Given the description of an element on the screen output the (x, y) to click on. 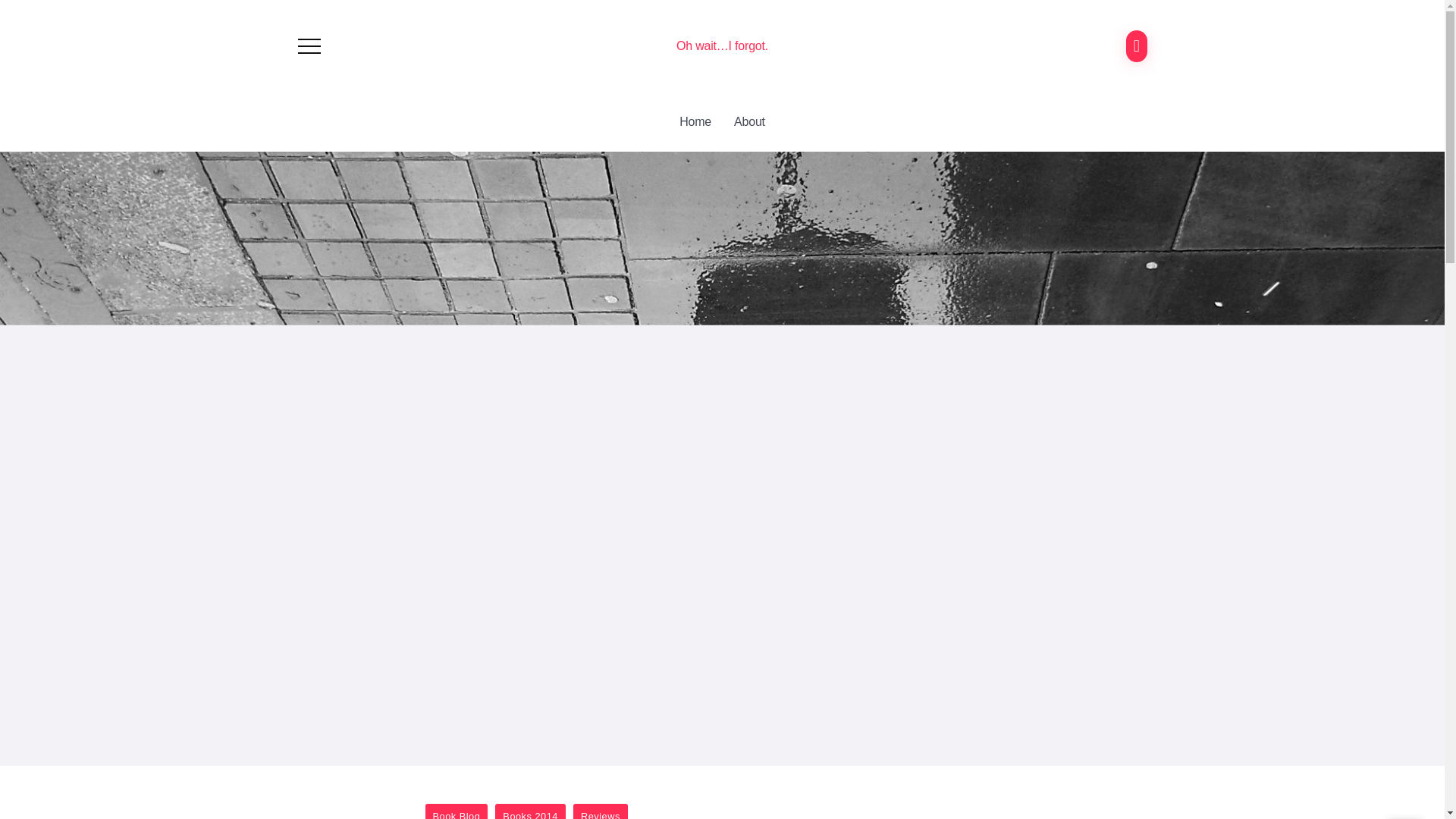
Books 2014 (530, 811)
Book Blog (456, 811)
Books 2014 (530, 811)
About (749, 121)
Home (694, 121)
Book Blog (456, 811)
Reviews (600, 811)
Reviews (600, 811)
